Given the description of an element on the screen output the (x, y) to click on. 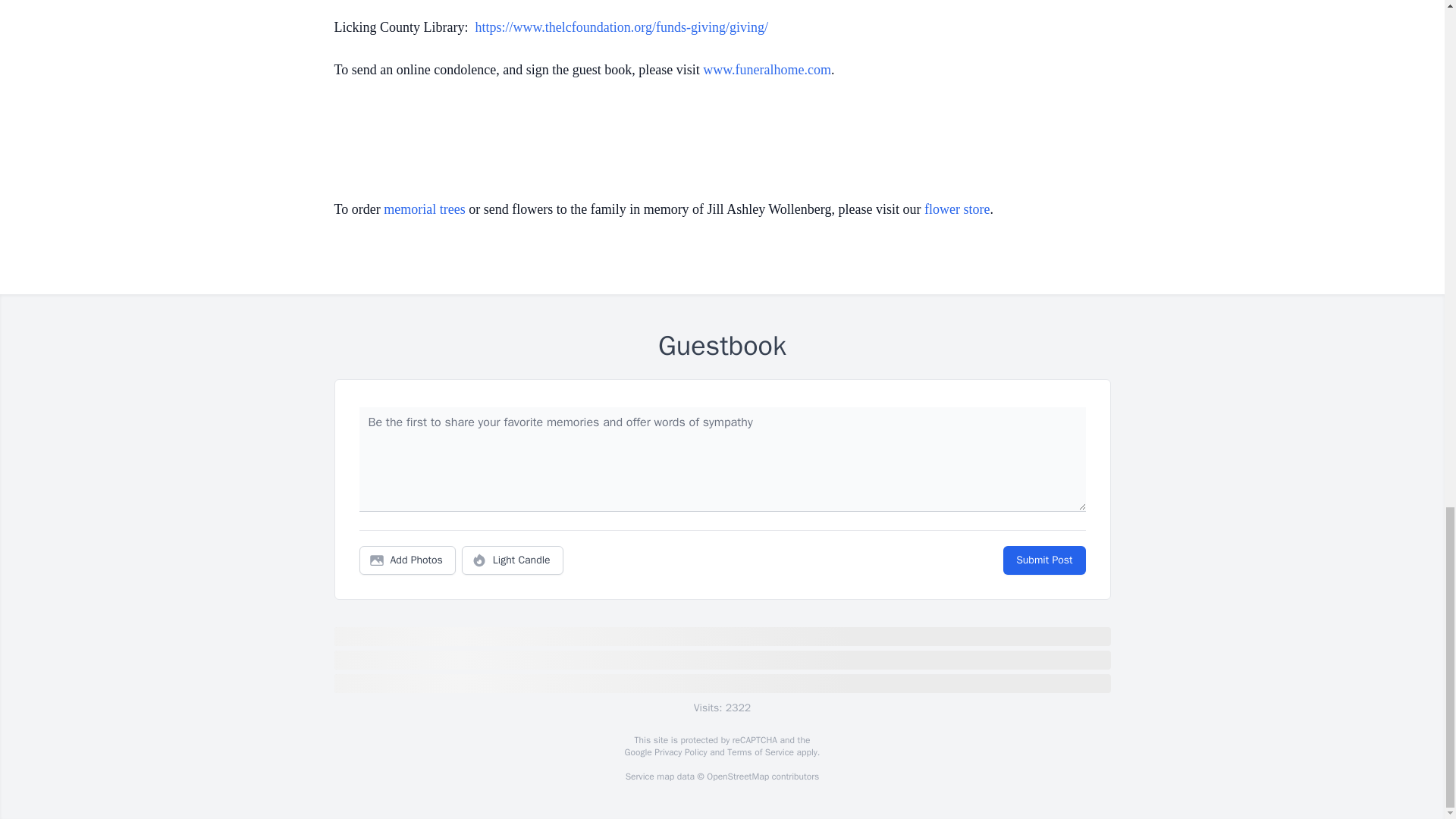
Terms of Service (759, 752)
Light Candle (512, 560)
flower store (957, 209)
memorial trees (424, 209)
www.funeralhome.com (767, 69)
Add Photos (407, 560)
Privacy Policy (679, 752)
OpenStreetMap (737, 776)
Submit Post (1043, 560)
